Given the description of an element on the screen output the (x, y) to click on. 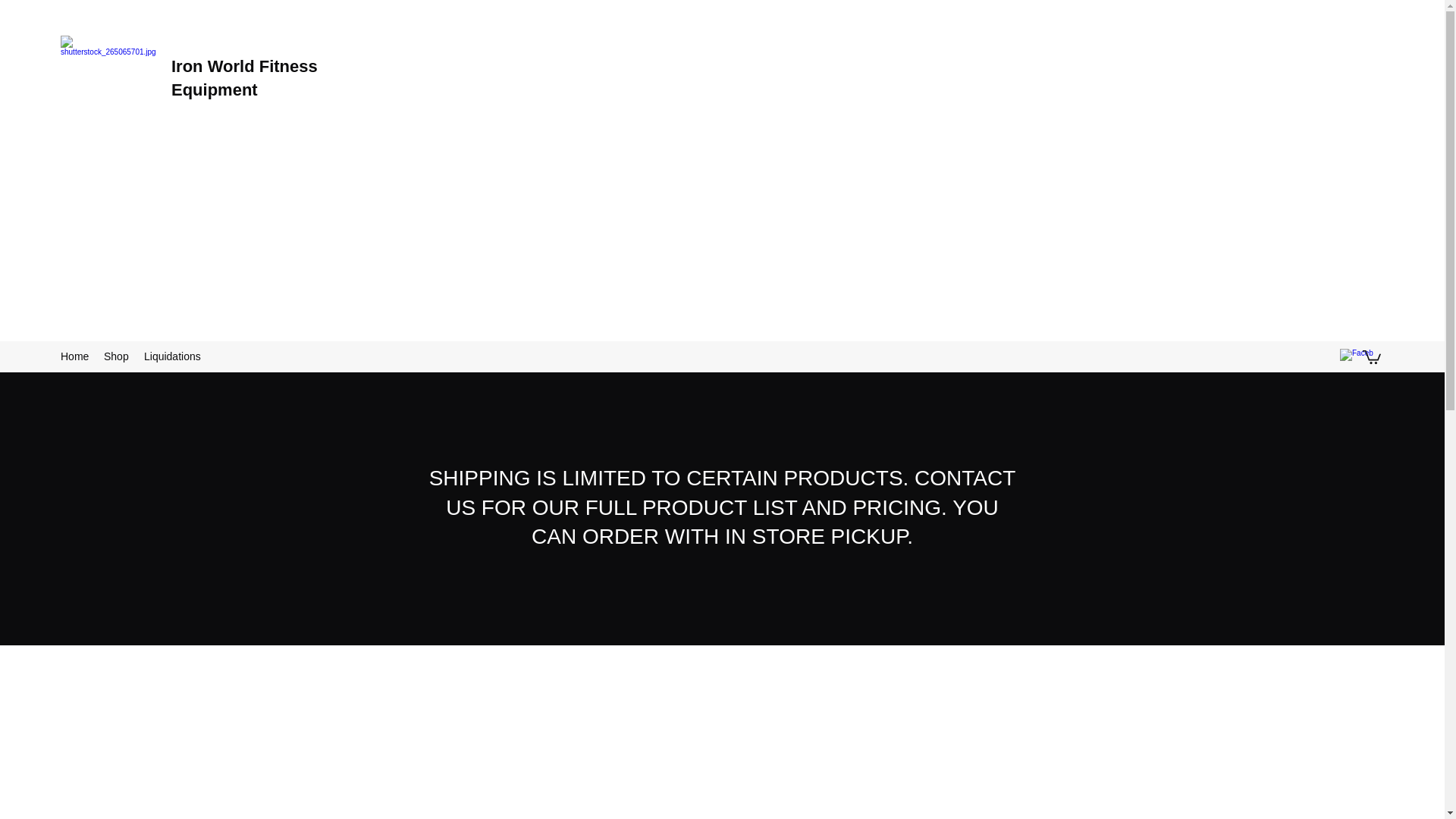
Home (74, 355)
Iron World Fitness Equipment (244, 77)
Liquidations (172, 355)
Shop (116, 355)
